Given the description of an element on the screen output the (x, y) to click on. 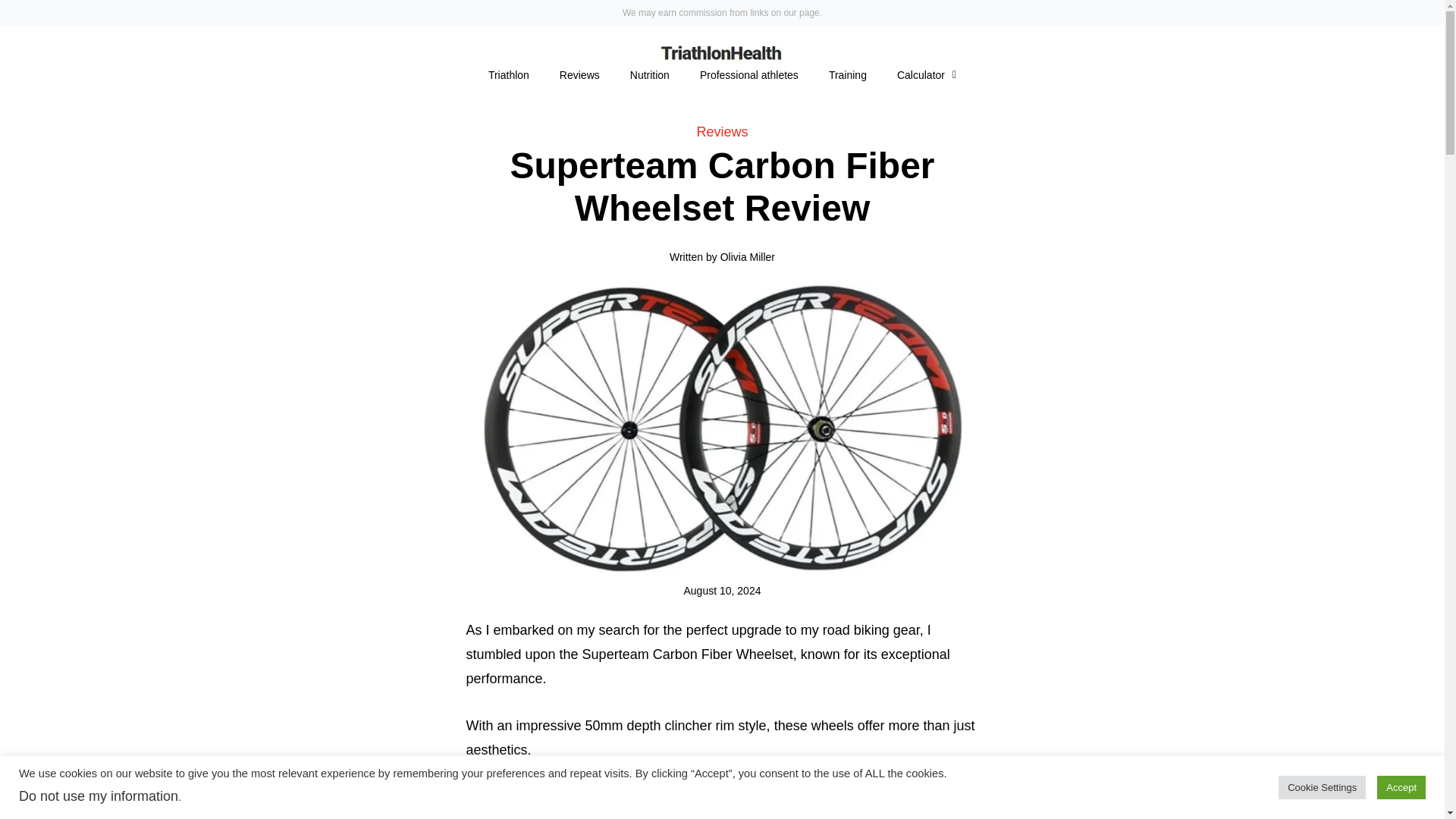
Training (847, 75)
Calculator (926, 75)
Written by Olivia Miller (721, 256)
Triathlon (508, 75)
Nutrition (649, 75)
Reviews (721, 131)
Professional athletes (748, 75)
Reviews (579, 75)
